Given the description of an element on the screen output the (x, y) to click on. 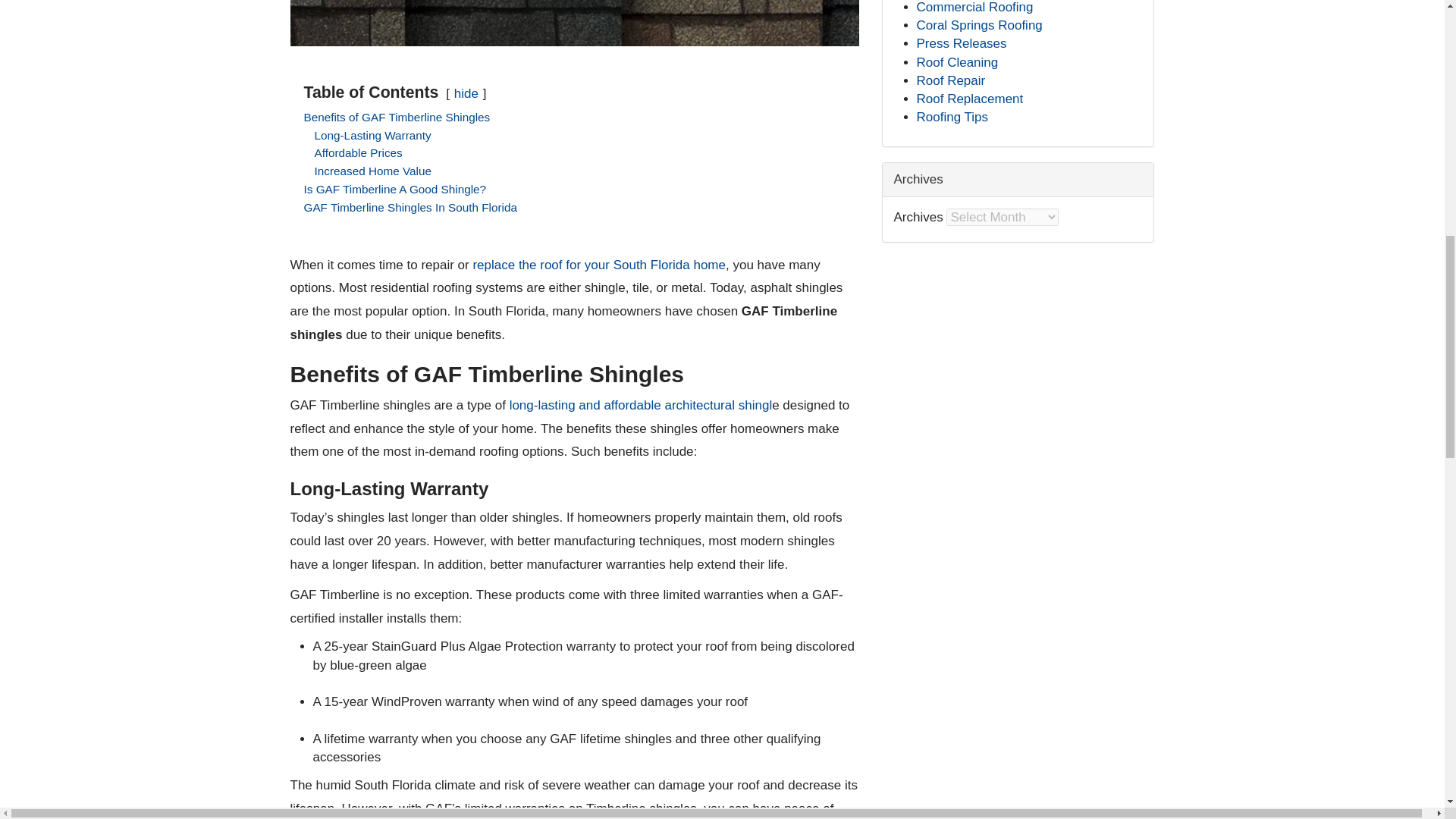
Is GAF Timberline A Good Shingle? (394, 188)
Increased Home Value (372, 170)
replace the roof for your South Florida home (598, 264)
GAF Timberline Shingles In South Florida (409, 206)
Long-Lasting Warranty (372, 134)
Benefits of GAF Timberline Shingles (395, 116)
hide (466, 93)
long-lasting and affordable architectural shingl (641, 405)
Affordable Prices (357, 152)
